Given the description of an element on the screen output the (x, y) to click on. 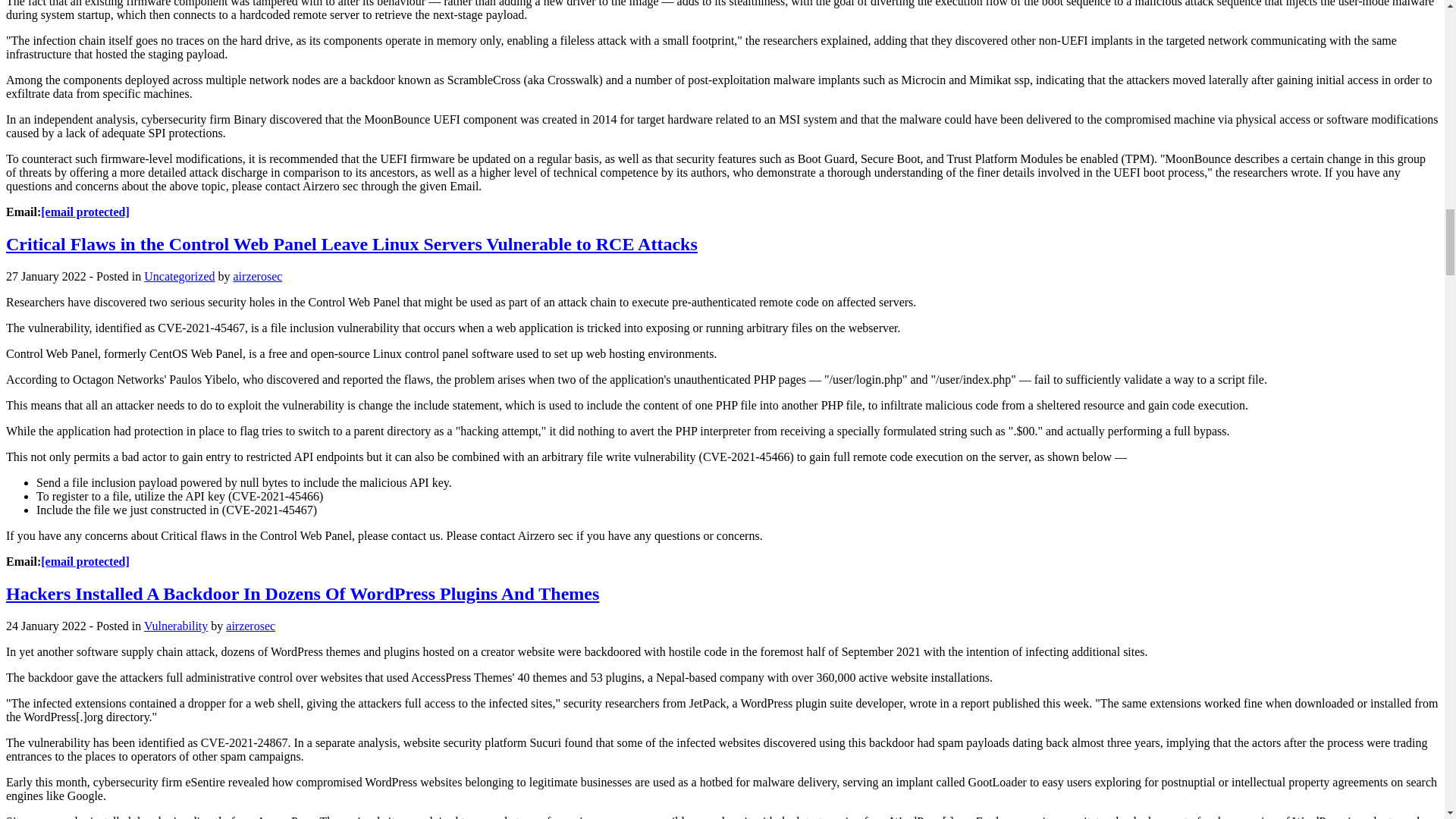
airzerosec (257, 276)
Uncategorized (179, 276)
